Given the description of an element on the screen output the (x, y) to click on. 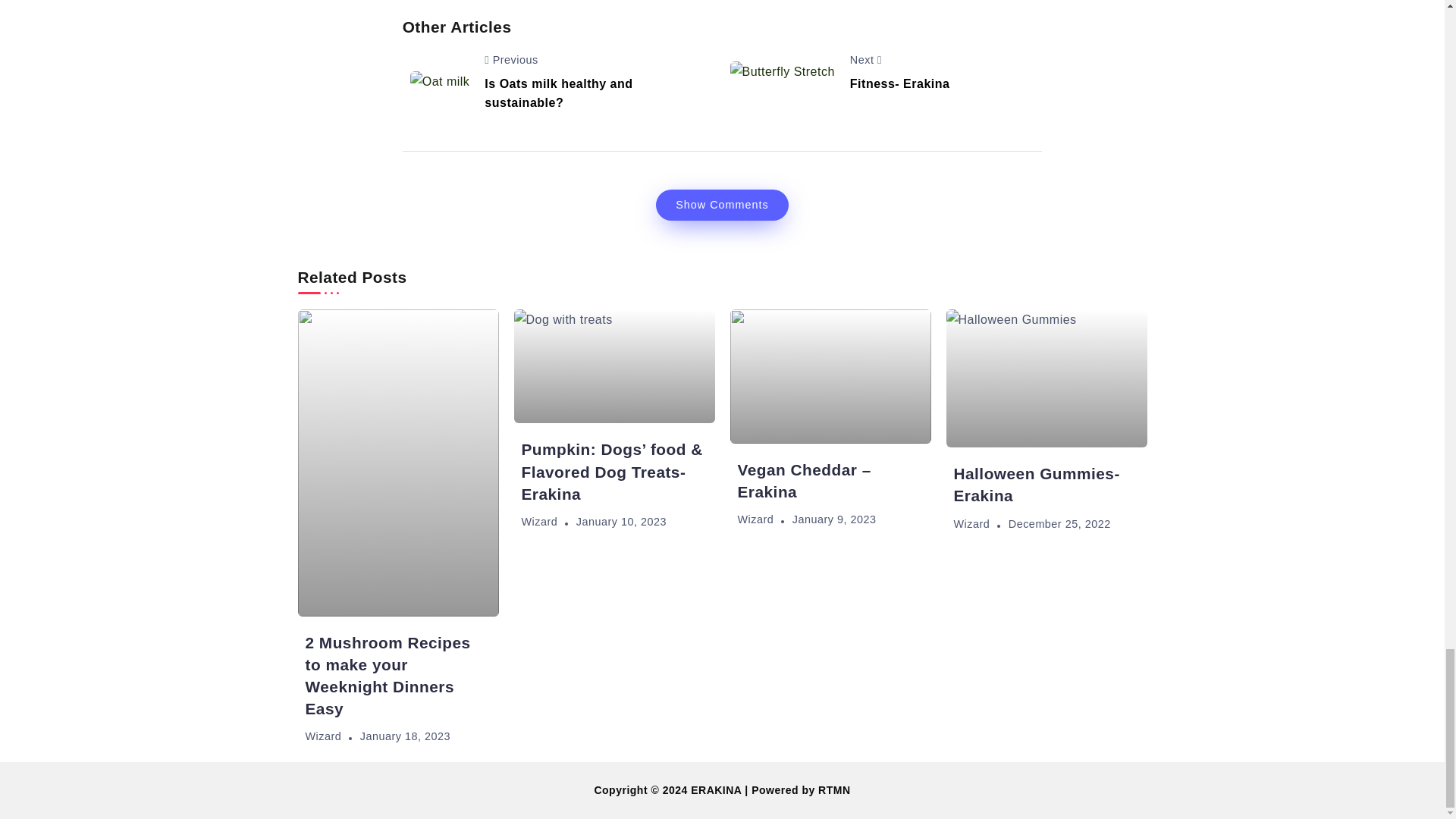
2 Mushroom Recipes to make your Weeknight Dinners Easy (387, 675)
Rice milk- Erakina (781, 72)
Rice milk- Erakina (440, 82)
